Given the description of an element on the screen output the (x, y) to click on. 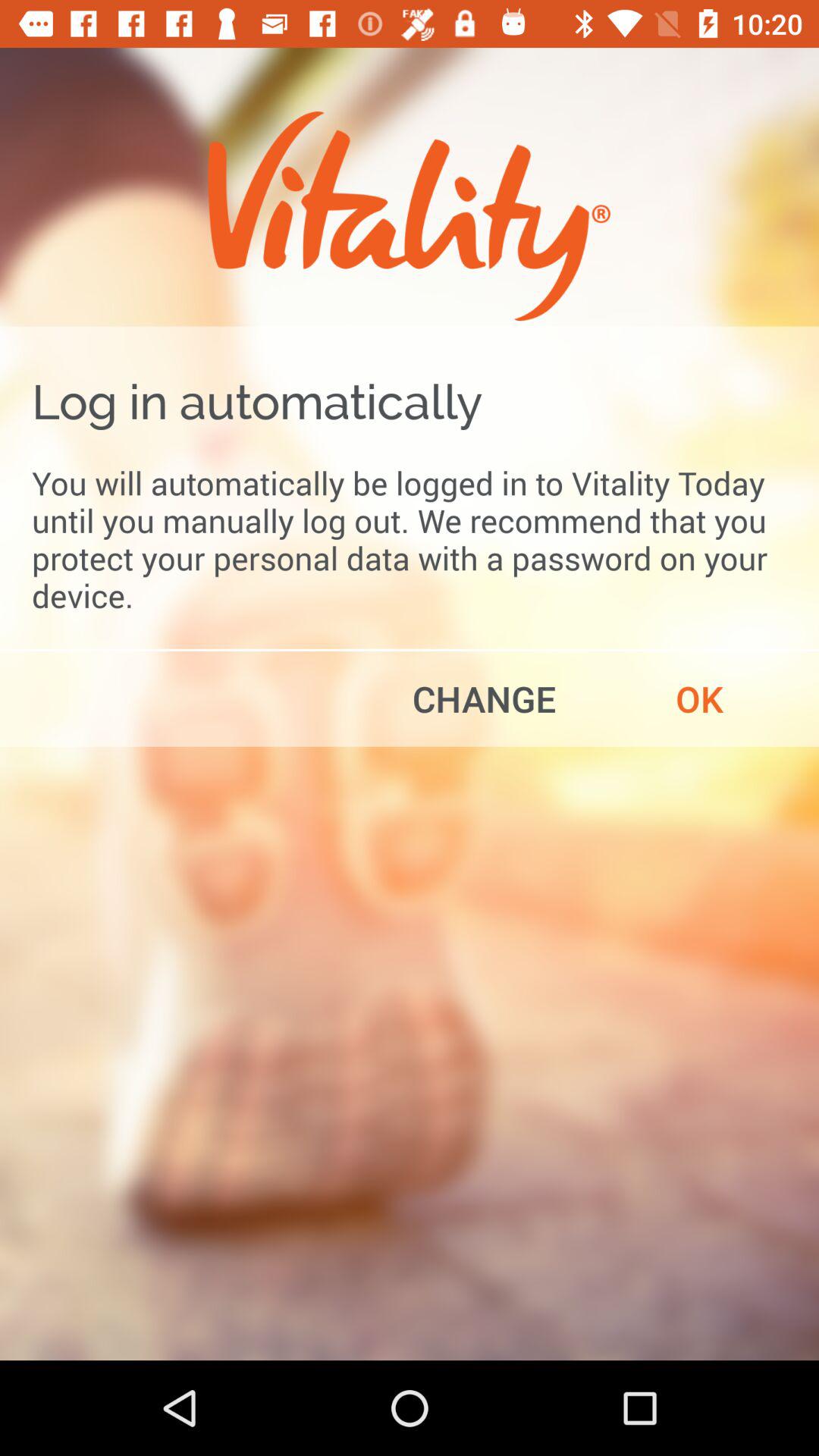
click the item to the left of ok (484, 698)
